Given the description of an element on the screen output the (x, y) to click on. 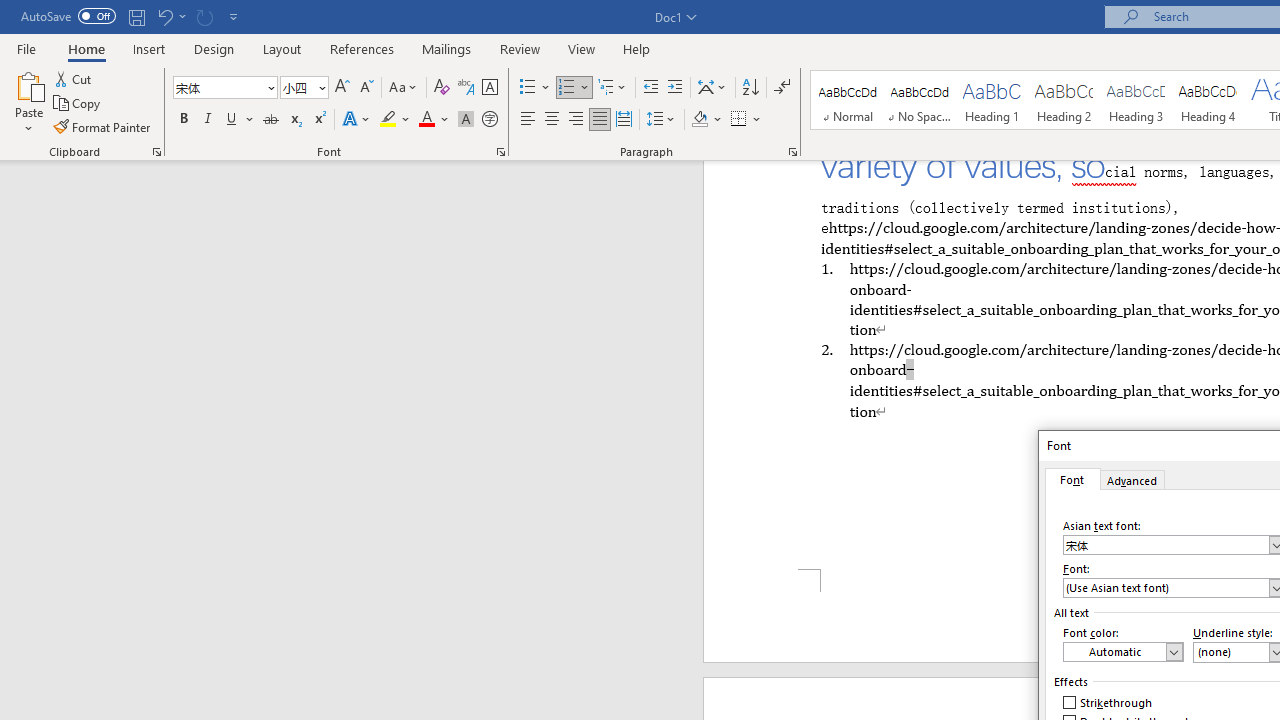
Font (224, 87)
Quick Access Toolbar (131, 16)
Align Left (527, 119)
Decrease Indent (650, 87)
Can't Repeat (204, 15)
Bullets (527, 87)
Phonetic Guide... (465, 87)
Font Color (434, 119)
Sort... (750, 87)
Layout (282, 48)
Save (136, 15)
Advanced (1133, 479)
Open (320, 87)
Shading (706, 119)
Paste (28, 102)
